Given the description of an element on the screen output the (x, y) to click on. 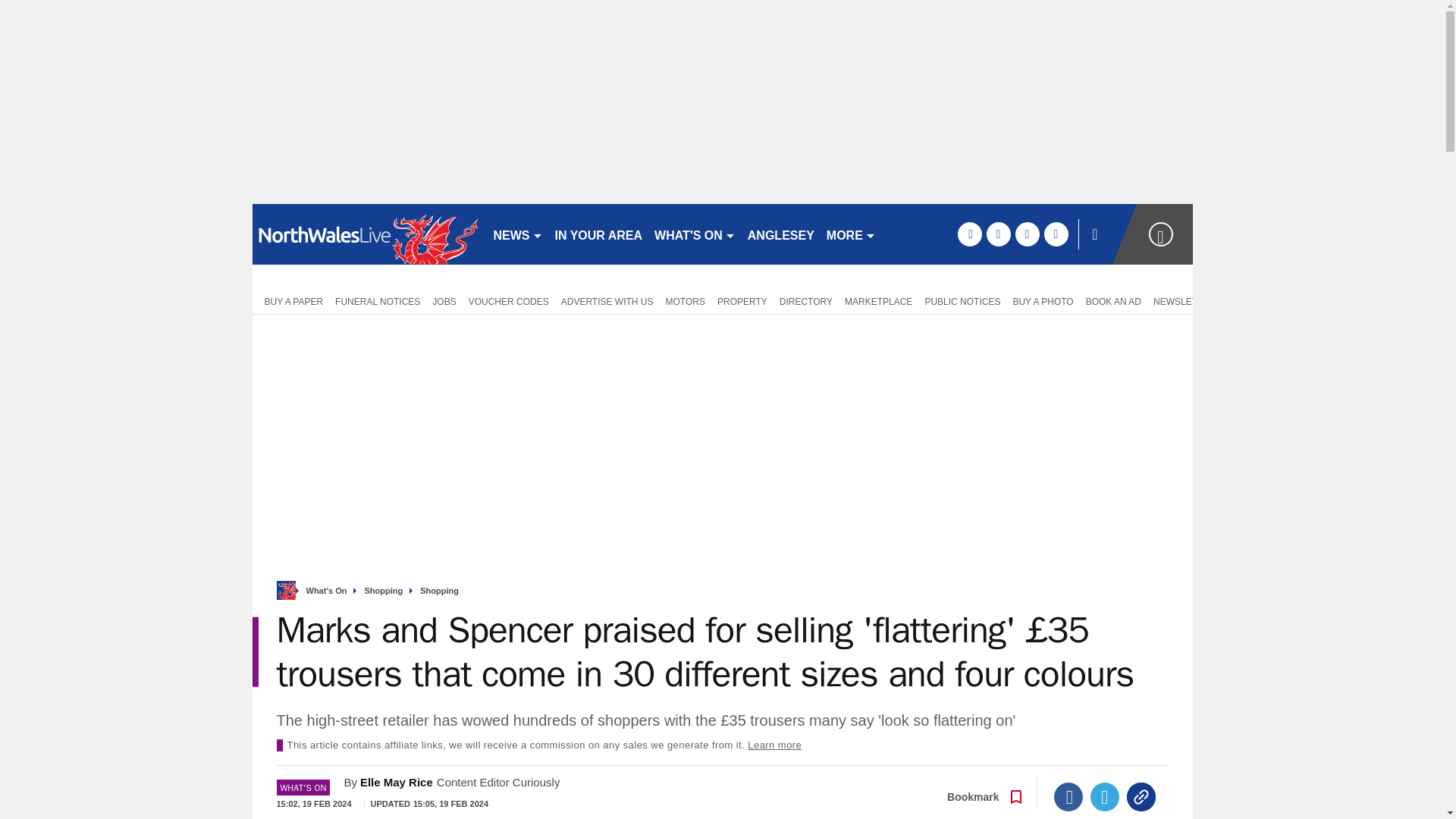
instagram (1055, 233)
pinterest (1026, 233)
MOTORS (685, 300)
PROPERTY (742, 300)
WHAT'S ON (694, 233)
BUY A PAPER (290, 300)
FUNERAL NOTICES (377, 300)
IN YOUR AREA (598, 233)
Twitter (1104, 796)
MORE (851, 233)
twitter (997, 233)
Facebook (1068, 796)
JOBS (443, 300)
NEWS (517, 233)
ADVERTISE WITH US (606, 300)
